Given the description of an element on the screen output the (x, y) to click on. 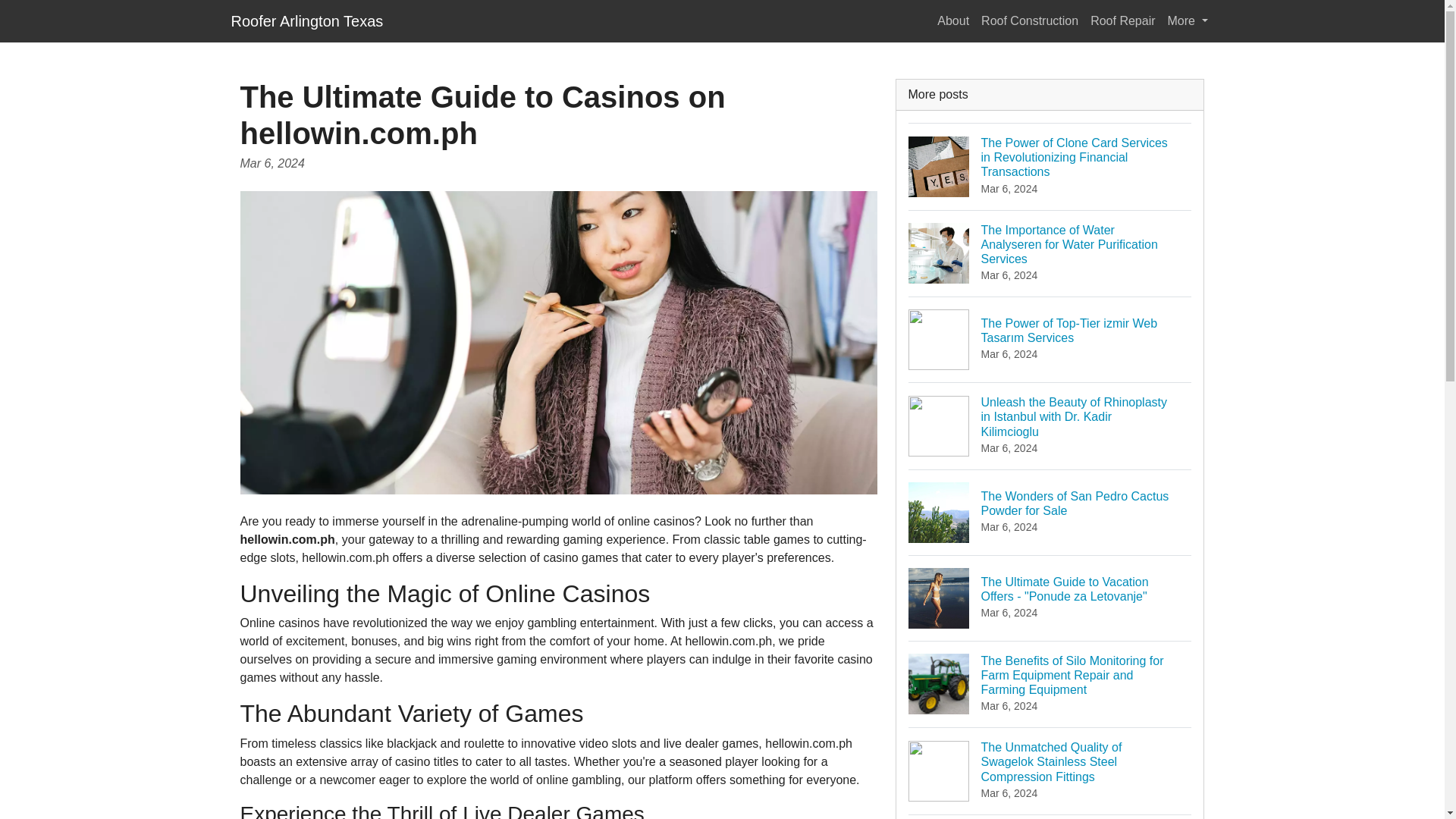
Roofer Arlington Texas (306, 20)
More (1187, 20)
About (953, 20)
Roof Repair (1122, 20)
Roof Construction (1050, 512)
